Given the description of an element on the screen output the (x, y) to click on. 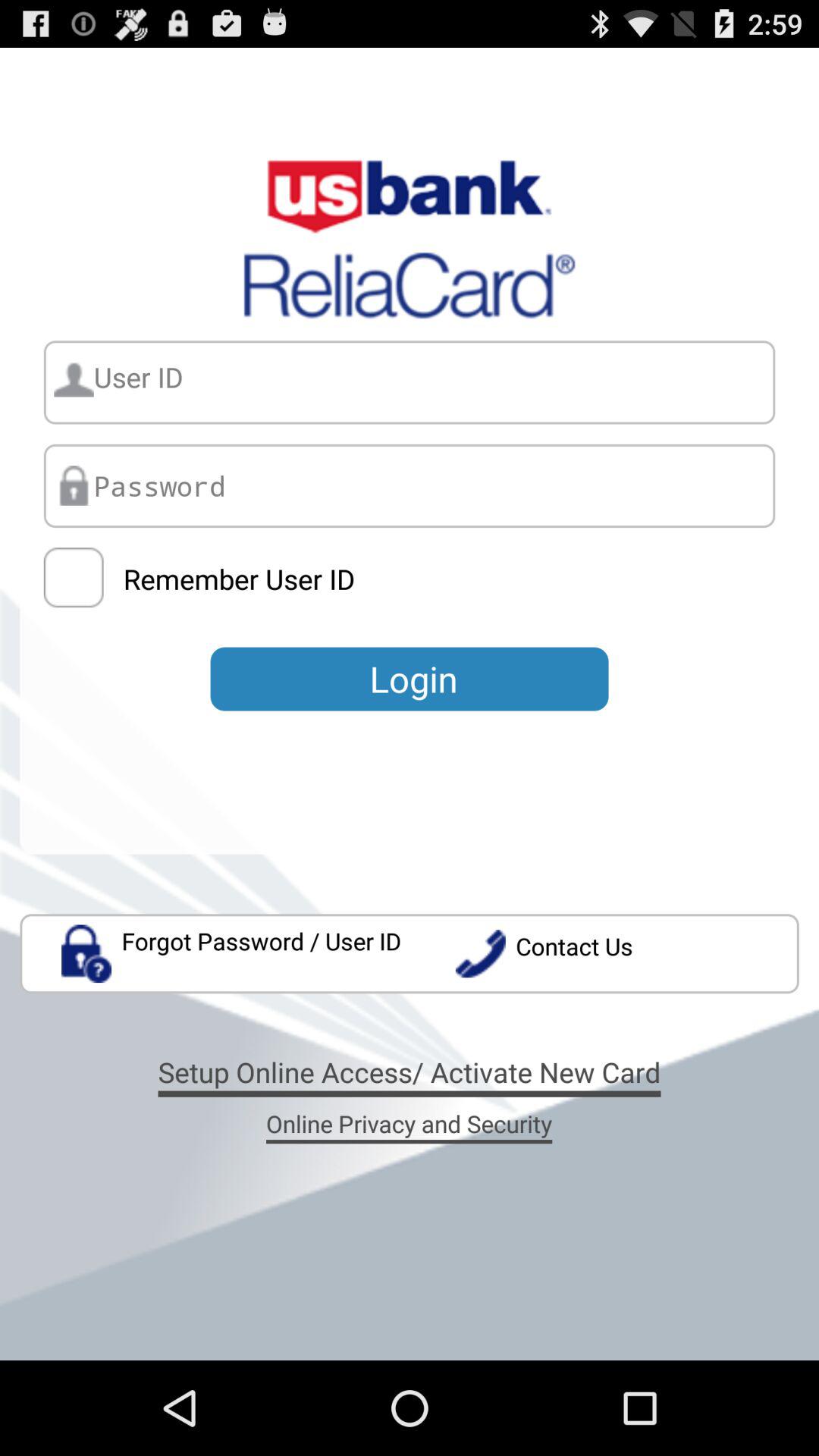
launch icon below the remember user id app (409, 678)
